Given the description of an element on the screen output the (x, y) to click on. 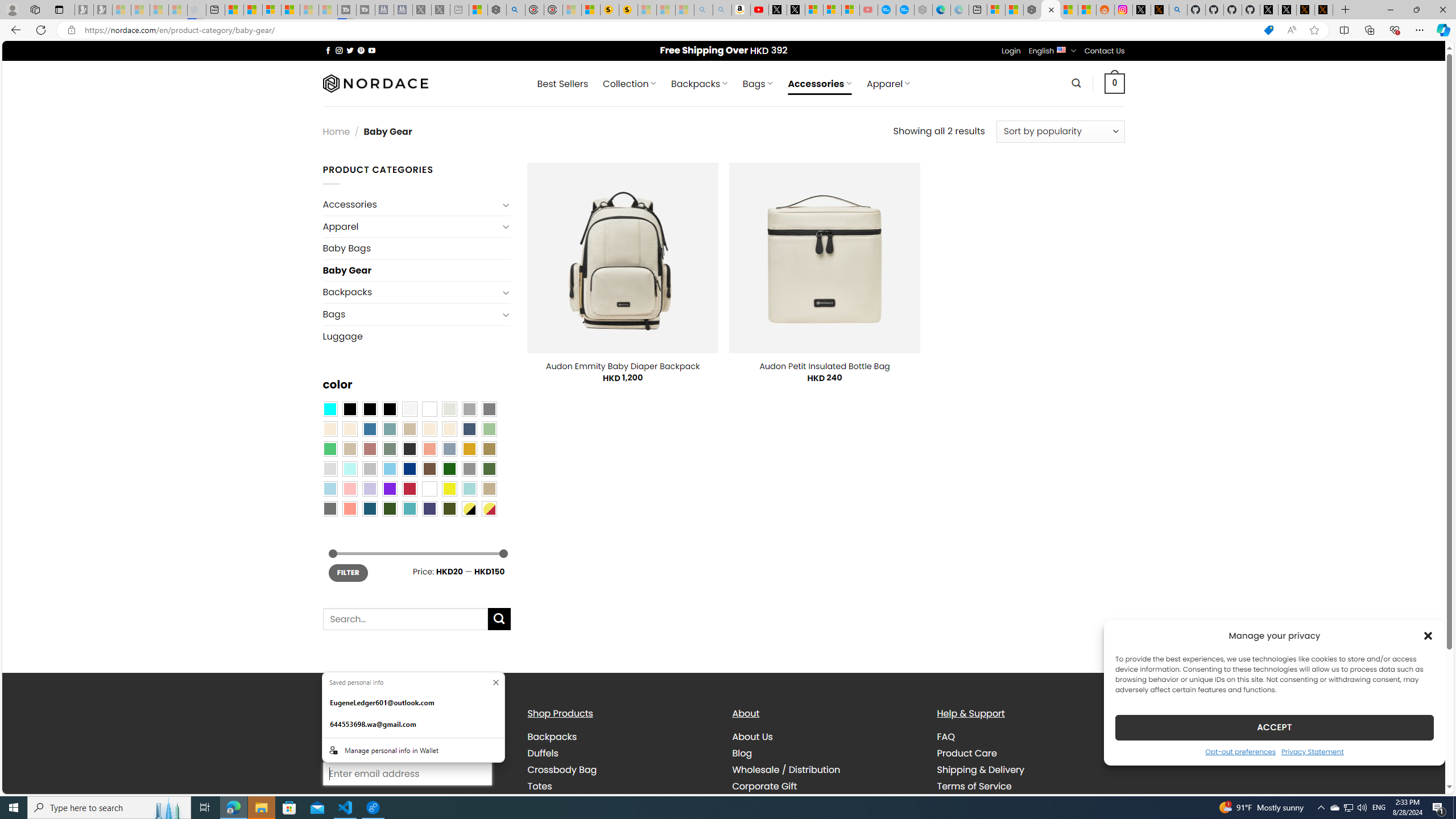
Dark Gray (468, 408)
Don't show saved information (495, 682)
Coral (429, 448)
Baby Gear (416, 269)
Khaki (488, 488)
Silver (369, 468)
